Given the description of an element on the screen output the (x, y) to click on. 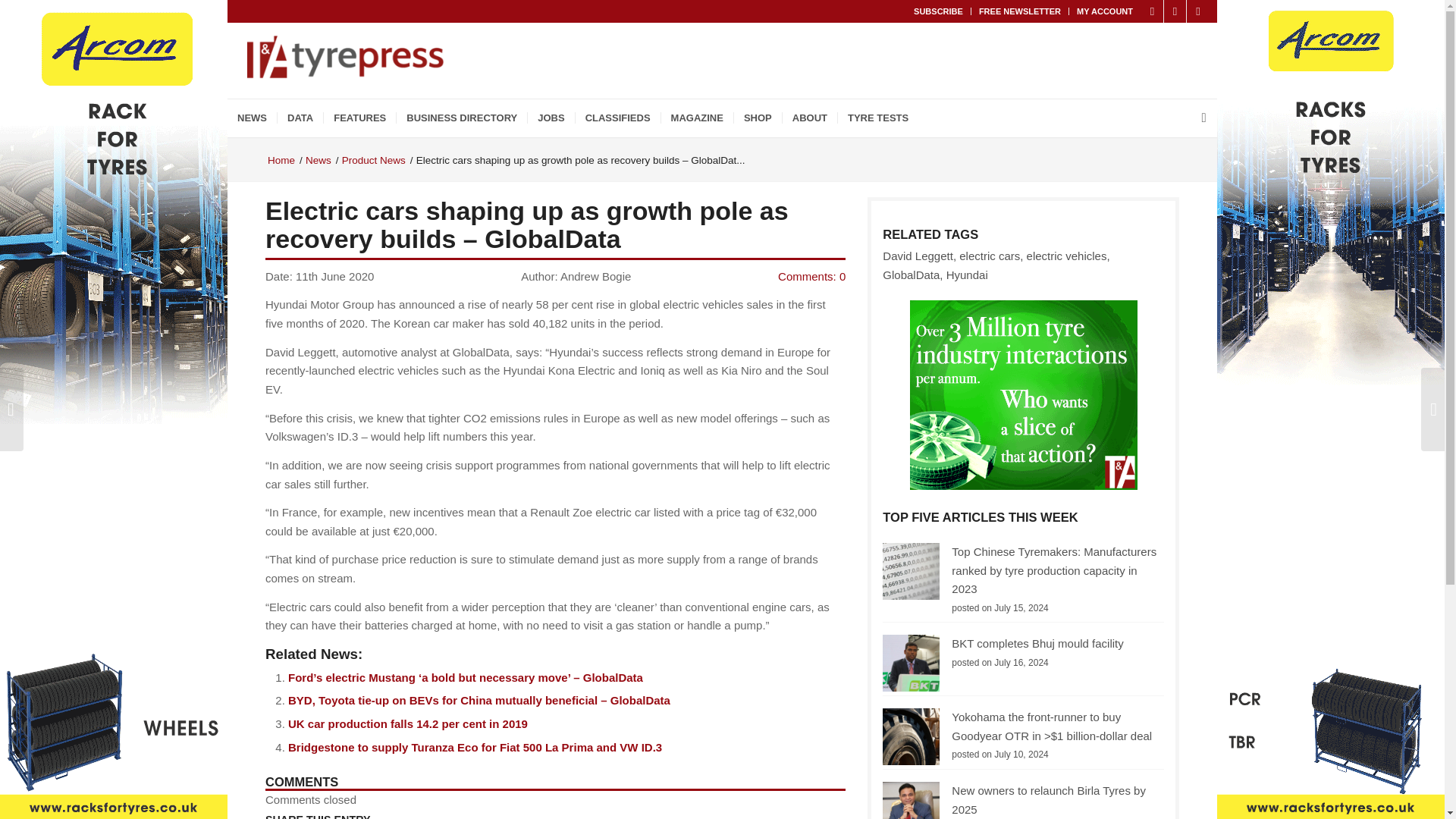
Business Directory (461, 118)
JOBS (550, 118)
X (1152, 11)
MY ACCOUNT (1104, 11)
Facebook (1174, 11)
SUBSCRIBE (938, 11)
FREE NEWSLETTER (1019, 11)
NEWS (251, 118)
DATA (299, 118)
BUSINESS DIRECTORY (461, 118)
FEATURES (359, 118)
UK car production falls 14.2 per cent in 2019 (407, 723)
Tyrepress (280, 160)
Instagram (1197, 11)
